Given the description of an element on the screen output the (x, y) to click on. 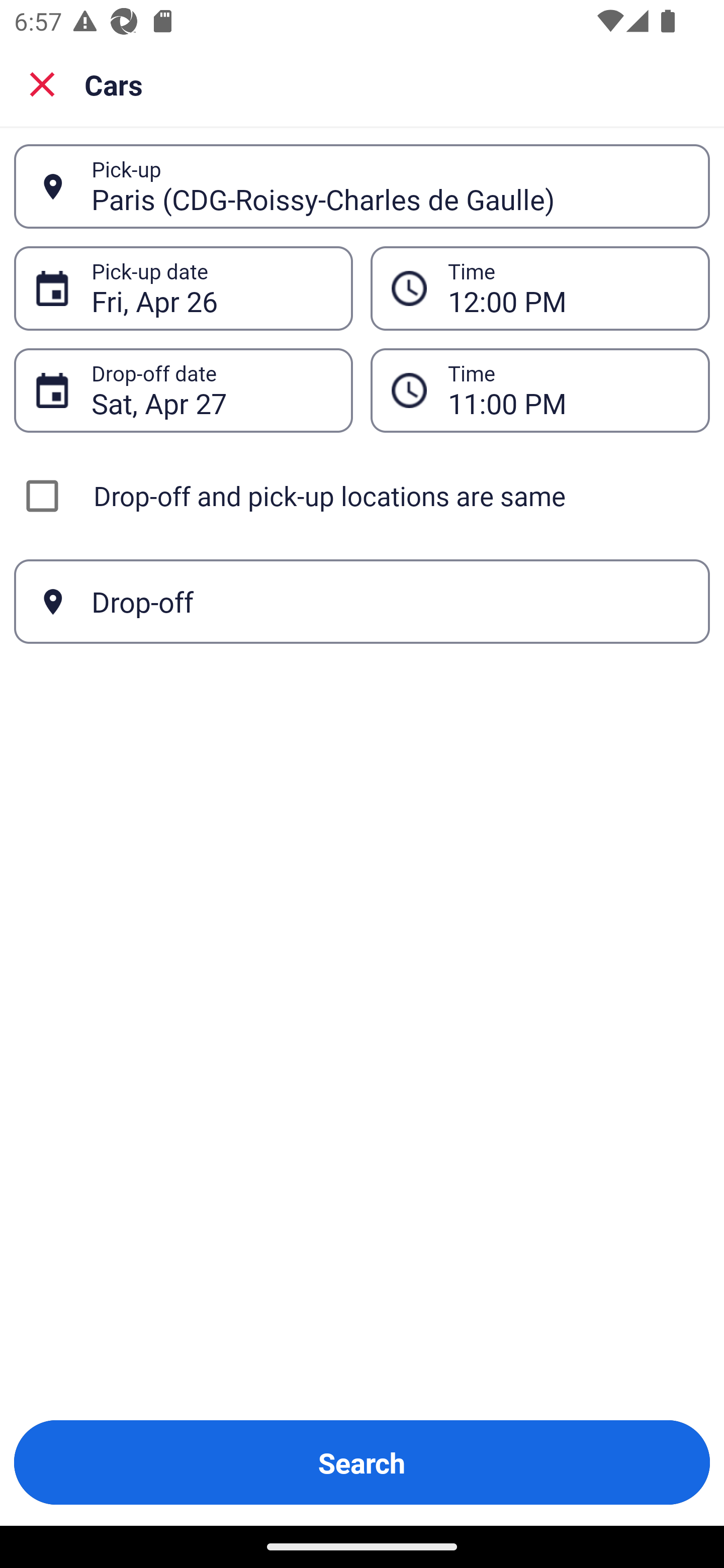
Close search screen (41, 83)
Paris (CDG-Roissy-Charles de Gaulle) Pick-up (361, 186)
Paris (CDG-Roissy-Charles de Gaulle) (389, 186)
Fri, Apr 26 Pick-up date (183, 288)
12:00 PM (540, 288)
Fri, Apr 26 (211, 288)
12:00 PM (568, 288)
Sat, Apr 27 Drop-off date (183, 390)
11:00 PM (540, 390)
Sat, Apr 27 (211, 390)
11:00 PM (568, 390)
Drop-off and pick-up locations are same (361, 495)
Drop-off (361, 601)
Search Button Search (361, 1462)
